Given the description of an element on the screen output the (x, y) to click on. 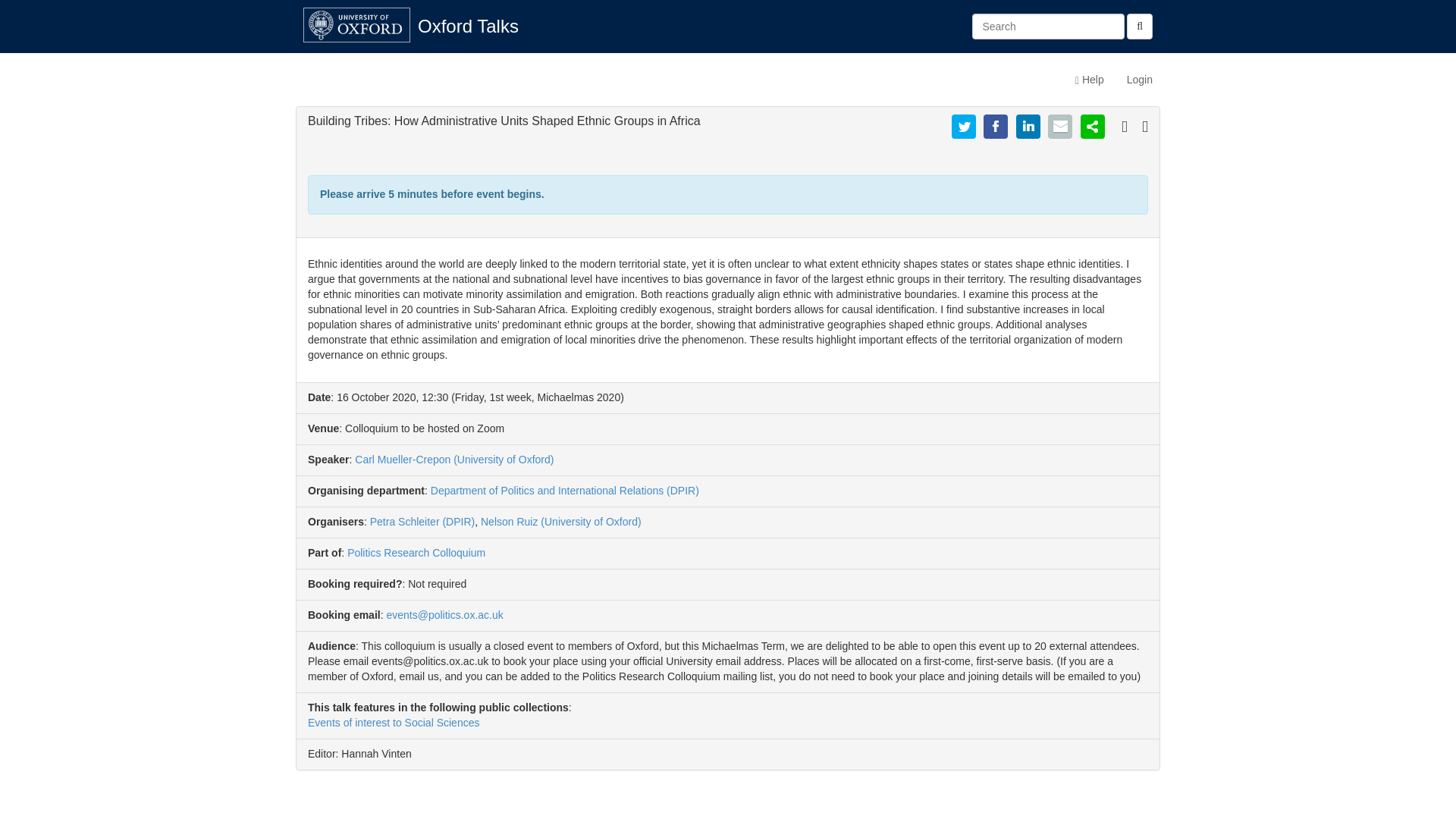
Login (1139, 79)
Events of interest to Social Sciences (393, 722)
Oxford Talks (467, 26)
Politics Research Colloquium (415, 552)
Help (1089, 79)
